Given the description of an element on the screen output the (x, y) to click on. 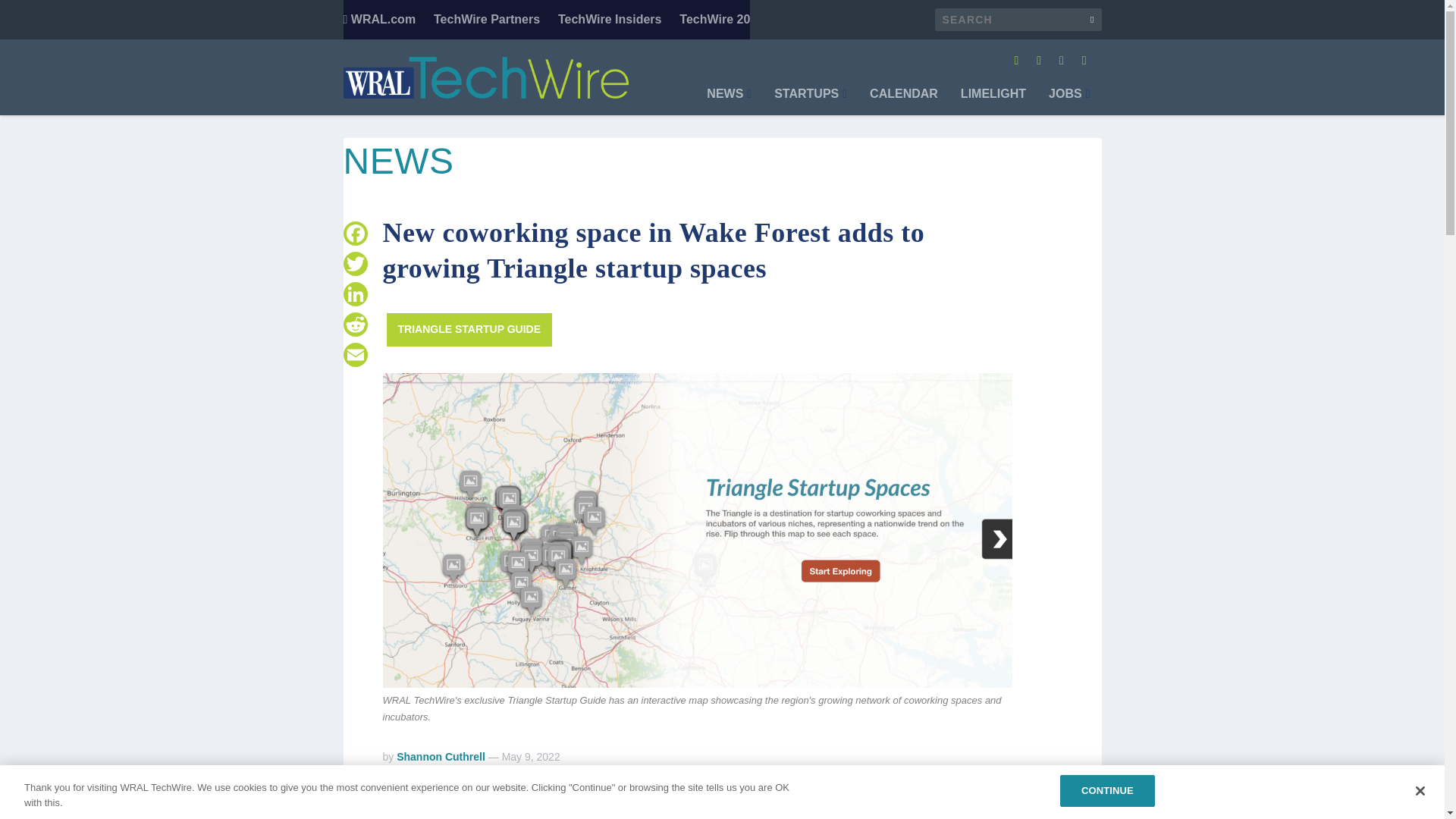
Facebook (354, 233)
TechWire Insiders (609, 19)
NEWS (728, 101)
CALENDAR (903, 101)
JOBS (1068, 101)
LinkedIn (354, 294)
Search for: (1017, 19)
STARTUPS (810, 101)
WRAL.com (378, 19)
LIMELIGHT (993, 101)
